Given the description of an element on the screen output the (x, y) to click on. 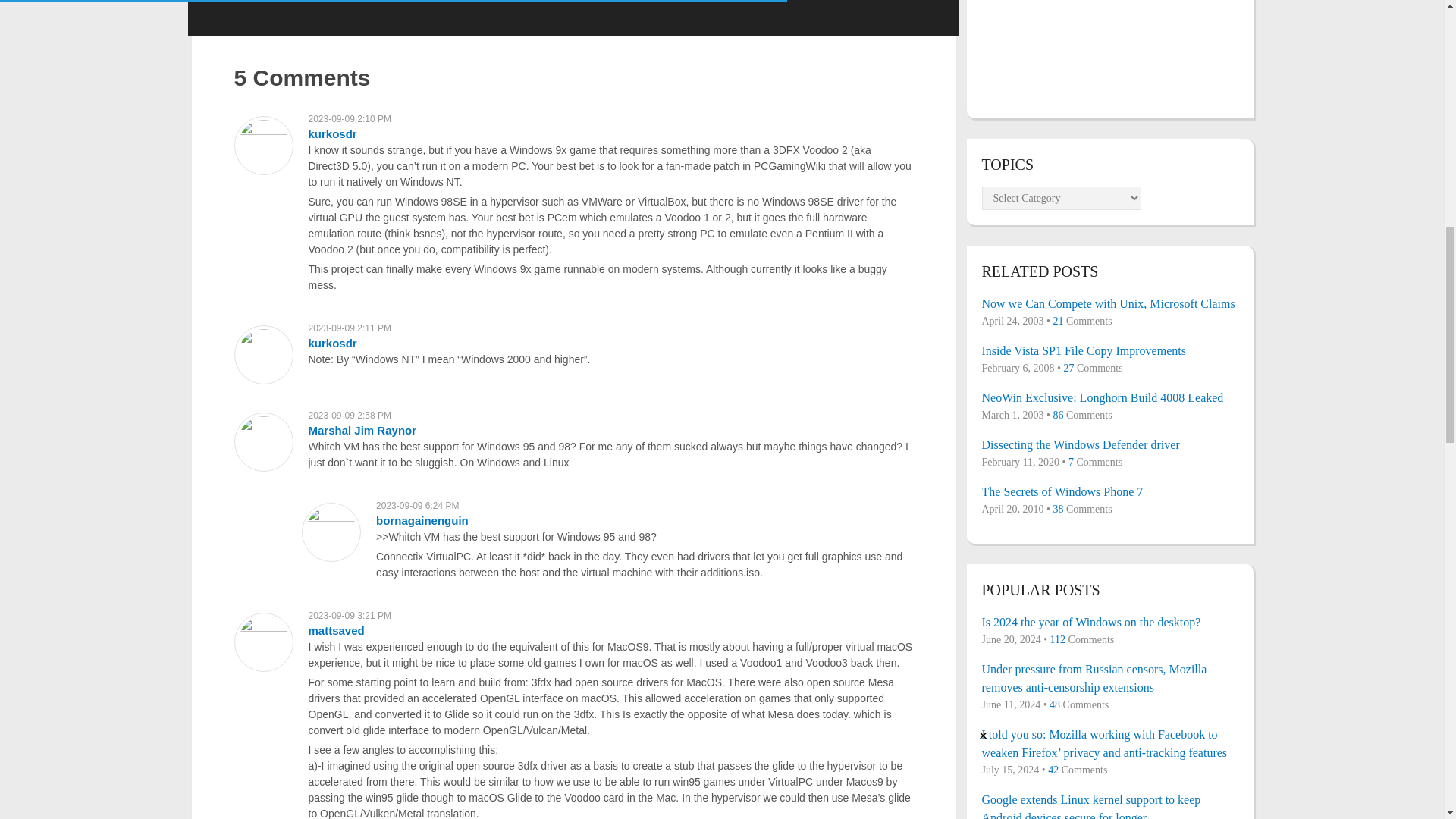
bornagainenguin (421, 520)
NeoWin Exclusive: Longhorn Build 4008 Leaked (1109, 398)
Inside Vista SP1 File Copy Improvements (1109, 351)
mattsaved (335, 630)
The Secrets of Windows Phone 7 (1109, 492)
Is 2024 the year of Windows on the desktop? (1109, 622)
kurkosdr (331, 133)
Now we Can Compete with Unix, Microsoft Claims (1109, 303)
Marshal Jim Raynor (361, 430)
Dissecting the Windows Defender driver (1109, 444)
kurkosdr (331, 342)
